Given the description of an element on the screen output the (x, y) to click on. 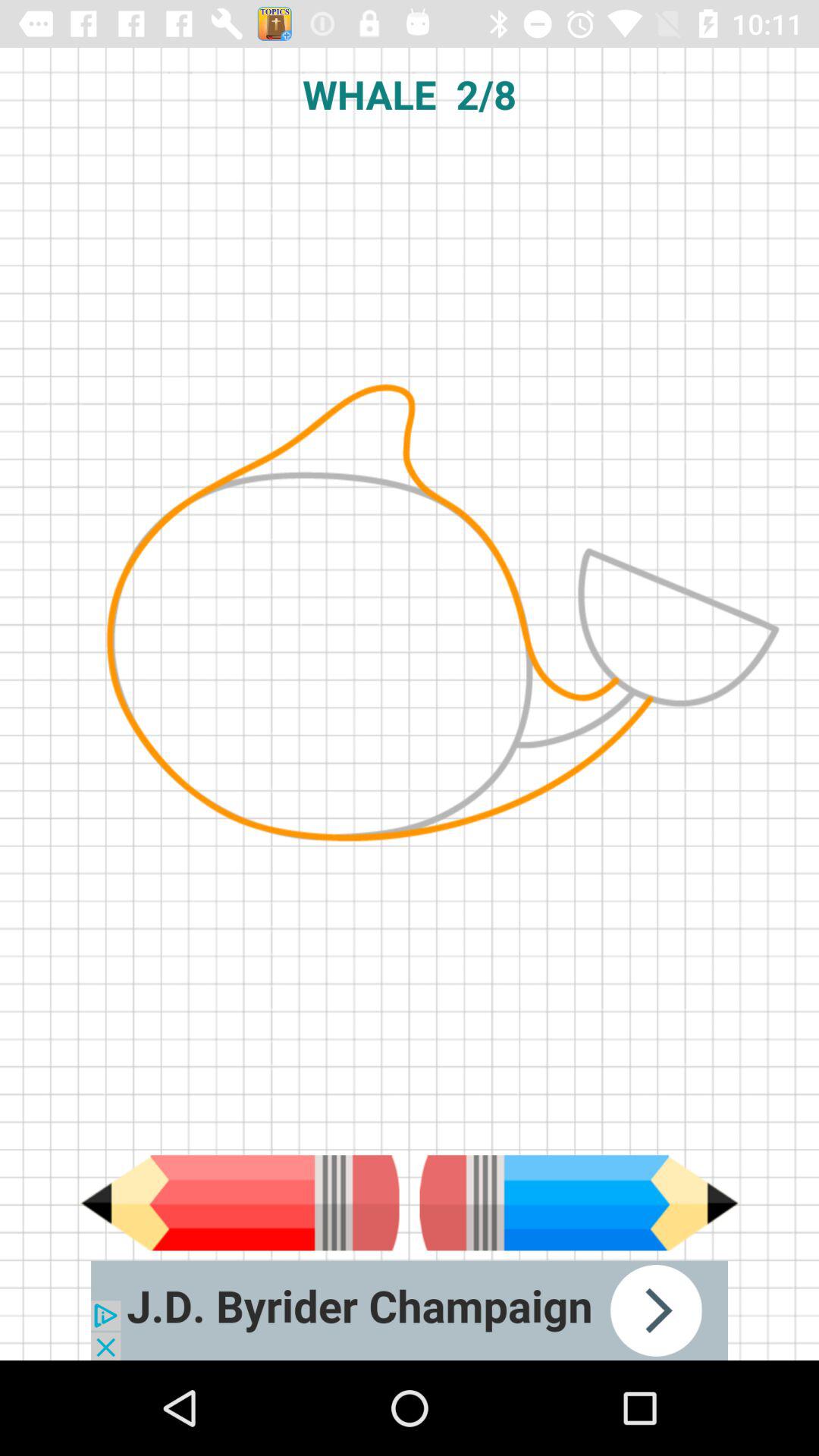
select pencil option (239, 1202)
